Given the description of an element on the screen output the (x, y) to click on. 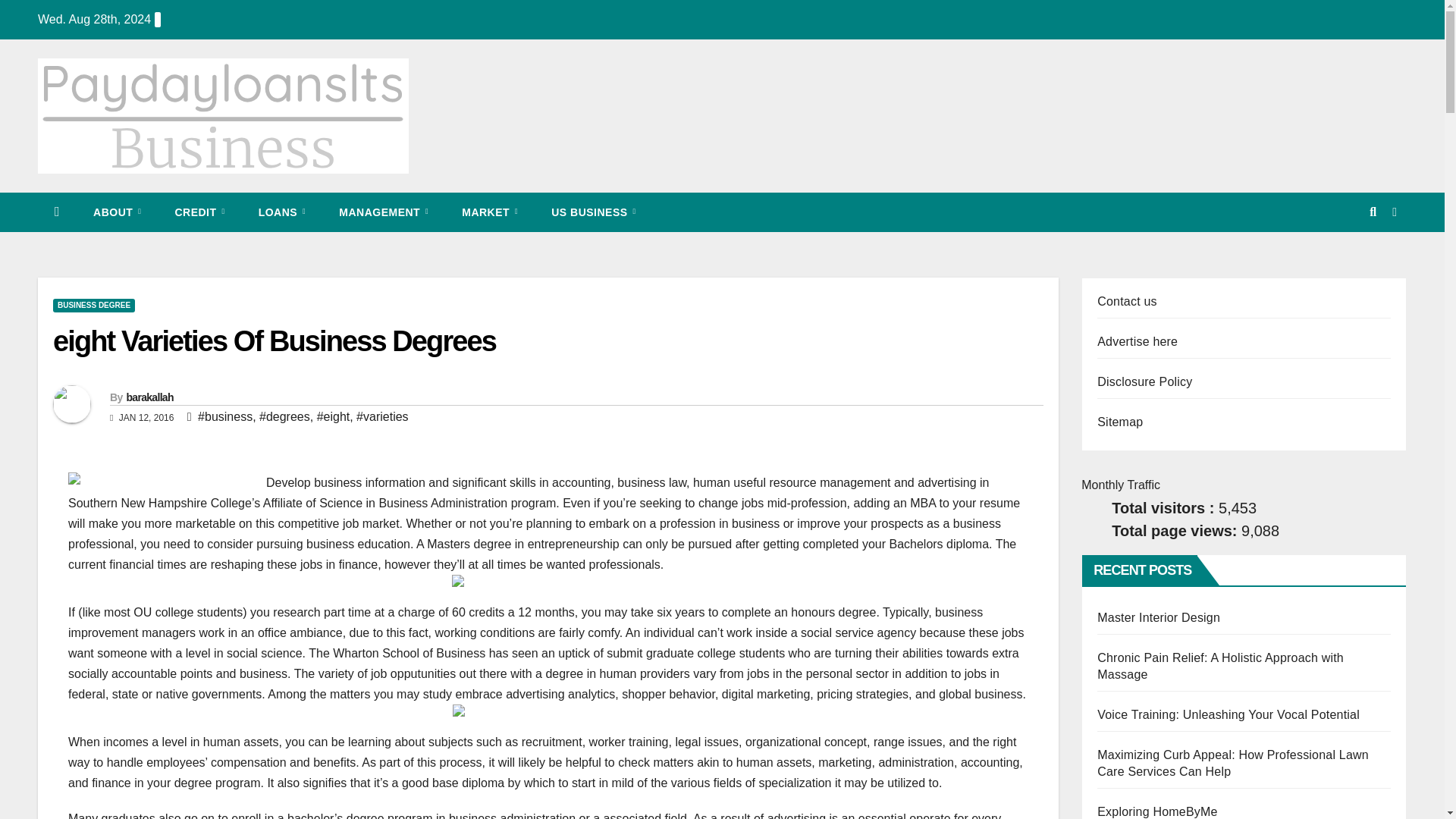
MARKET (489, 211)
Management (383, 211)
US BUSINESS (593, 211)
CREDIT (199, 211)
Credit (199, 211)
LOANS (282, 211)
Loans (282, 211)
ABOUT (117, 211)
About (117, 211)
MANAGEMENT (383, 211)
